Given the description of an element on the screen output the (x, y) to click on. 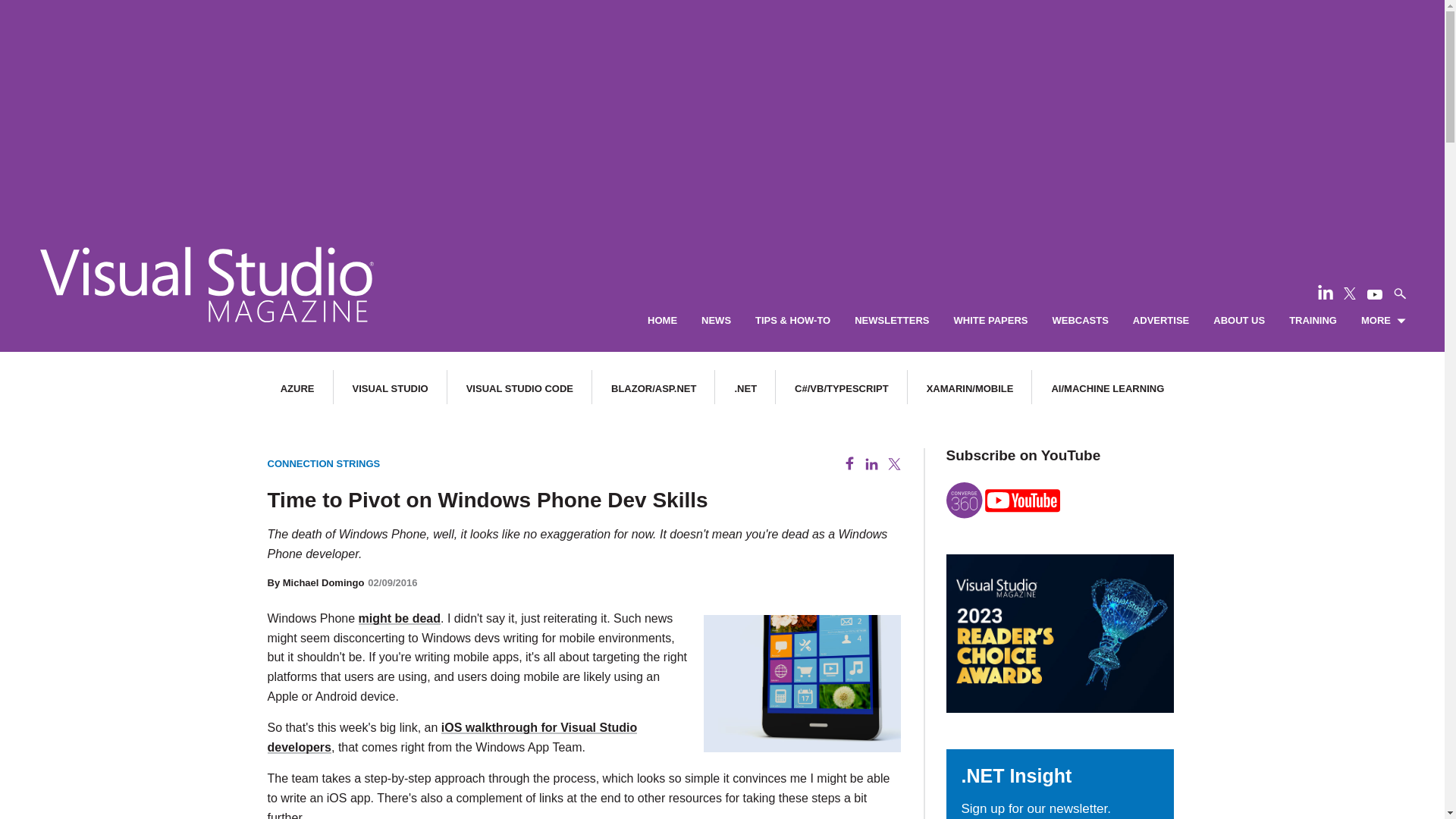
NEWS (715, 320)
ABOUT US (1238, 320)
WHITE PAPERS (990, 320)
VISUAL STUDIO CODE (519, 388)
WEBCASTS (1079, 320)
TRAINING (1312, 320)
HOME (662, 320)
MORE (1383, 320)
.NET (745, 388)
